Given the description of an element on the screen output the (x, y) to click on. 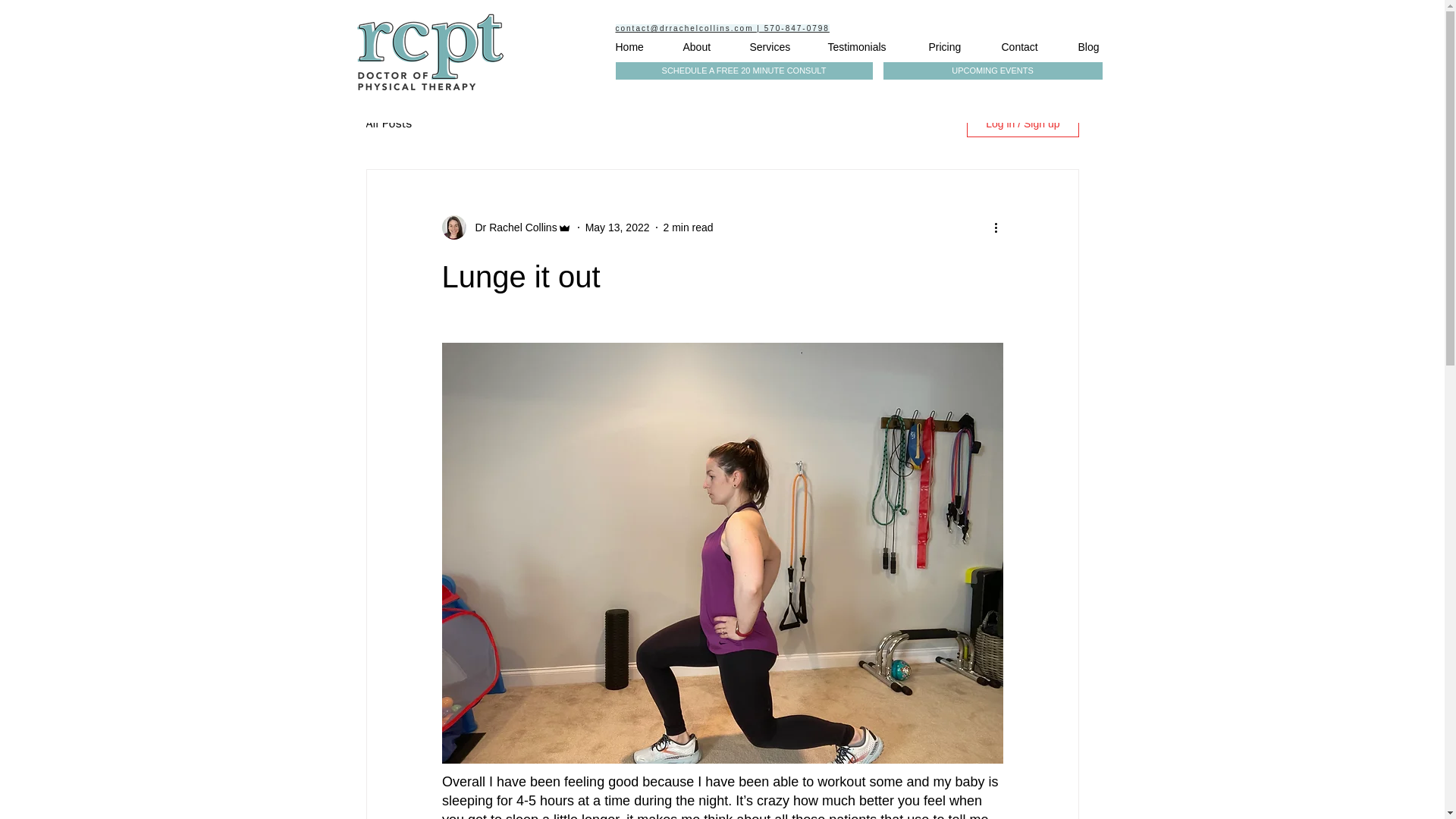
2 min read (687, 227)
Testimonials (866, 47)
Home (637, 47)
SCHEDULE A FREE 20 MINUTE CONSULT (743, 70)
About (704, 47)
All Posts (388, 123)
May 13, 2022 (617, 227)
Dr Rachel Collins (510, 227)
Pricing (953, 47)
Contact (1028, 47)
